Given the description of an element on the screen output the (x, y) to click on. 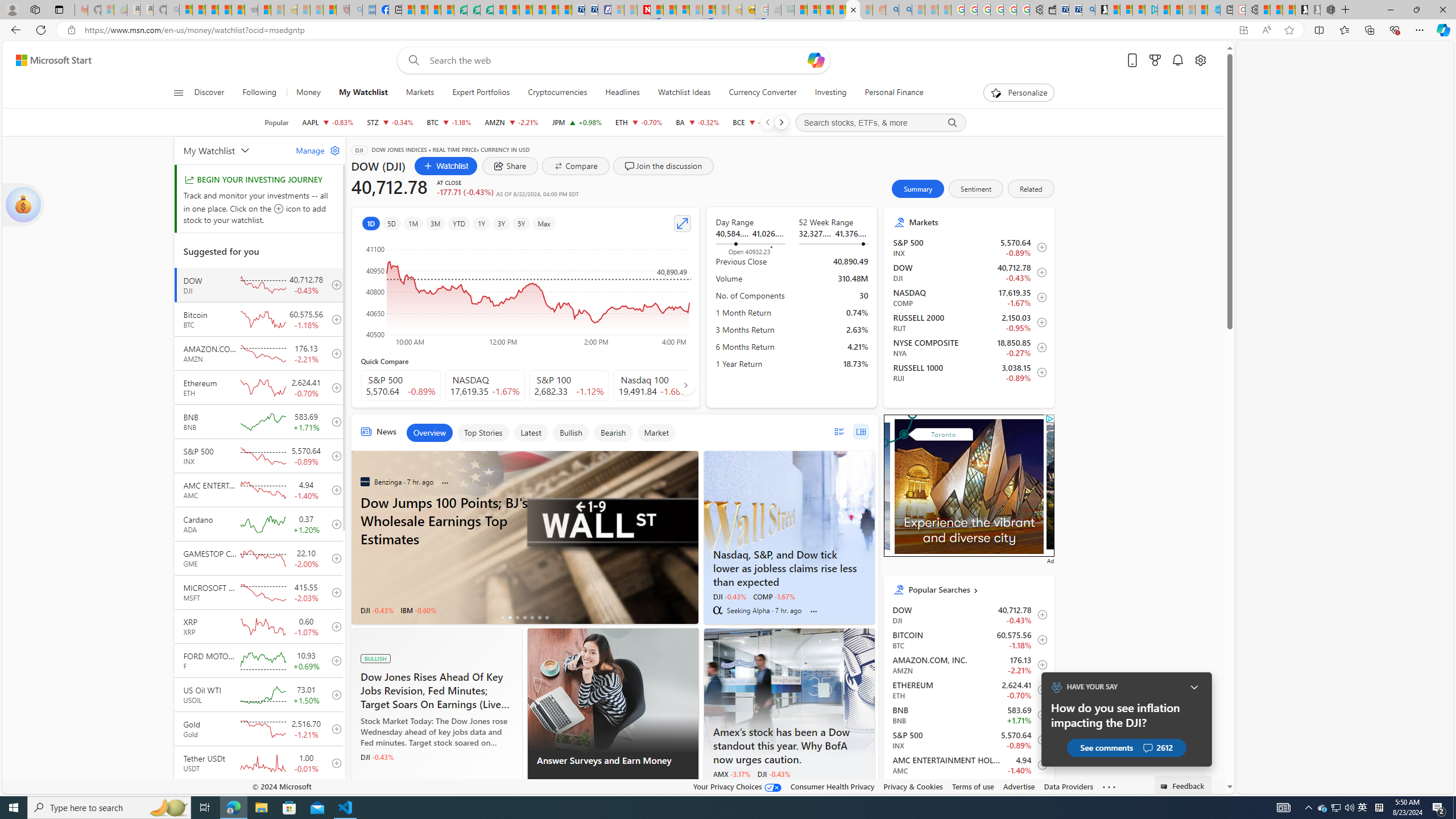
AutomationID: gradient3 (1130, 485)
share dialog (509, 166)
AutomationID: gradient4 (1130, 485)
AMX -3.17% (731, 773)
BA THE BOEING COMPANY decrease 172.87 -0.56 -0.32% (697, 122)
